Given the description of an element on the screen output the (x, y) to click on. 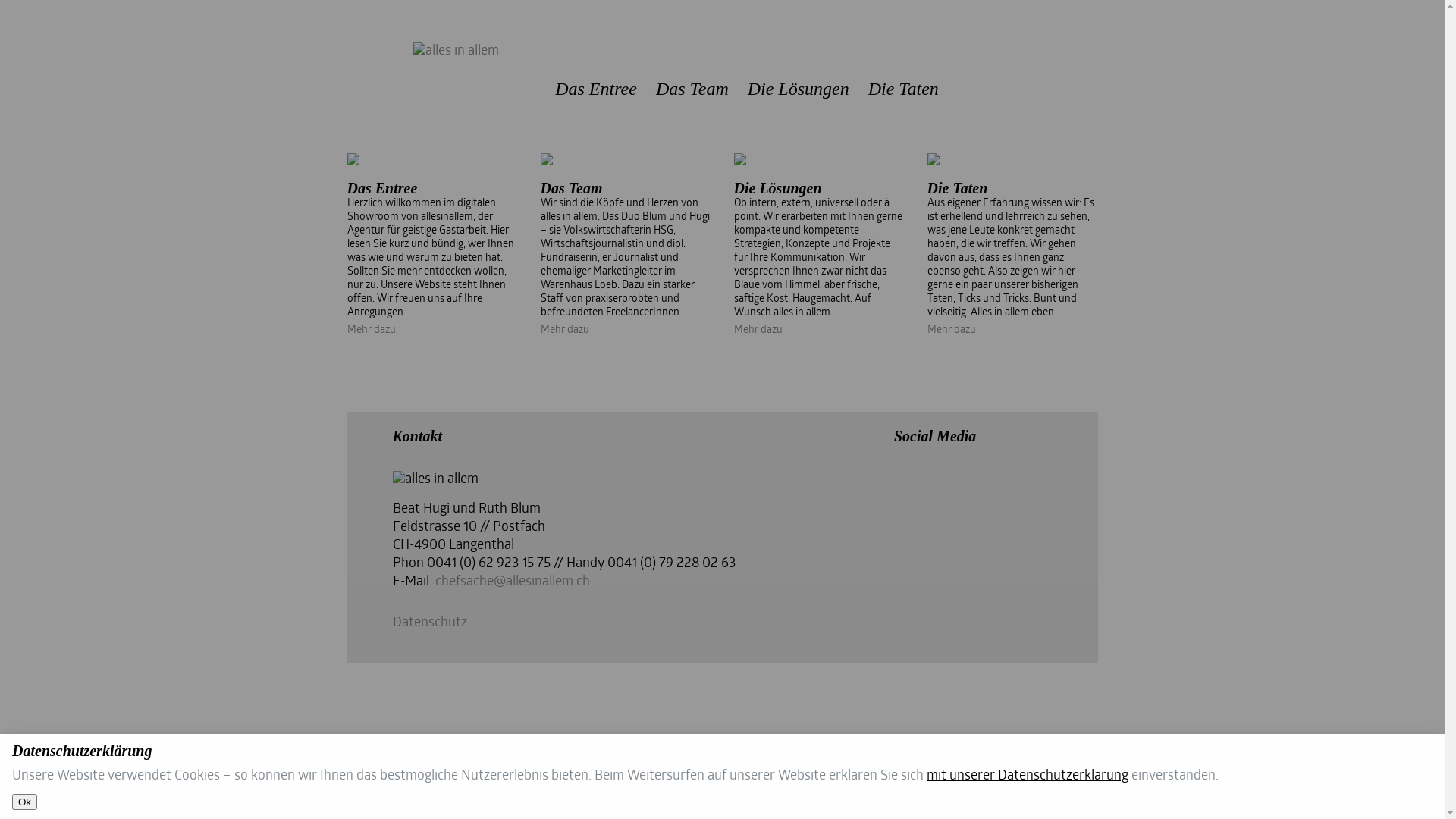
Mehr dazu Element type: text (563, 329)
Das Team Element type: text (691, 88)
Ok Element type: text (24, 801)
Mehr dazu Element type: text (758, 329)
Mehr dazu Element type: text (950, 329)
chefsache@allesinallem.ch Element type: text (512, 581)
Das Entree Element type: text (596, 88)
Mehr dazu Element type: text (371, 329)
Datenschutz Element type: text (429, 622)
Die Taten Element type: text (903, 88)
